Given the description of an element on the screen output the (x, y) to click on. 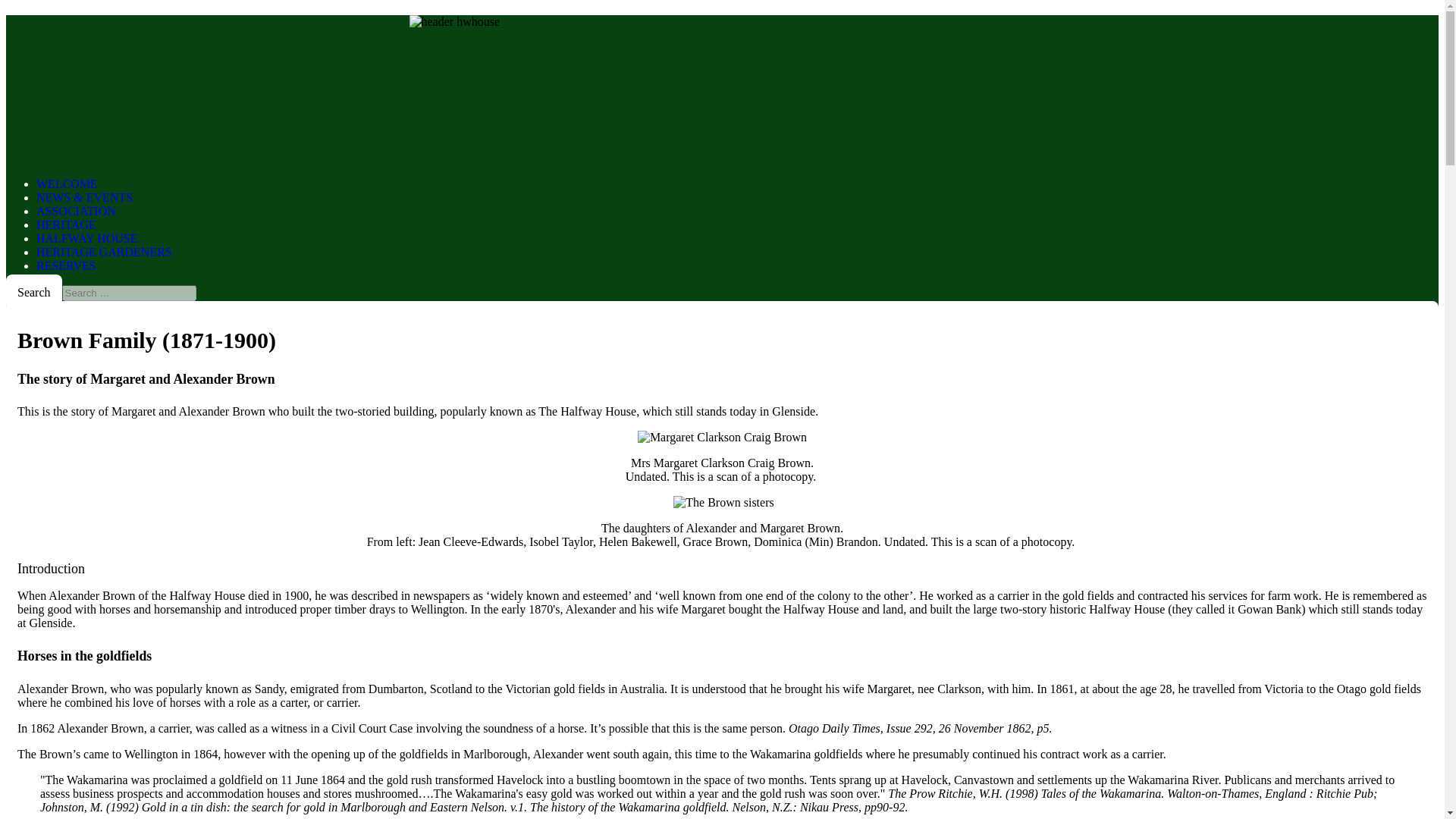
HALFWAY HOUSE (87, 237)
ASSOCIATION (76, 210)
WELCOME (66, 183)
RESERVES (66, 265)
HERITAGE GARDENERS (103, 251)
HERITAGE (66, 224)
